Given the description of an element on the screen output the (x, y) to click on. 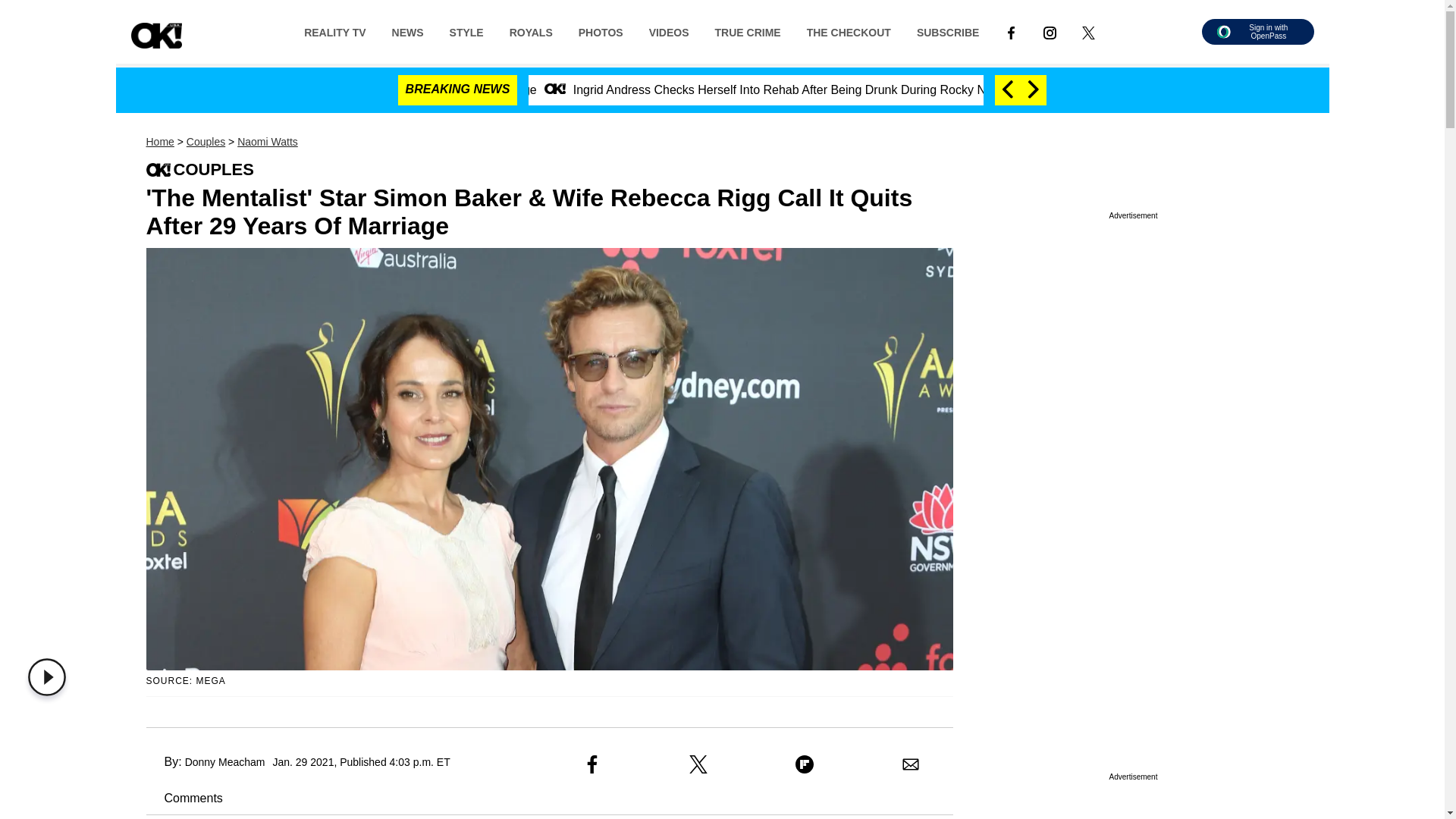
LINK TO X (1088, 31)
Share to X (697, 764)
Trinity Audio Player (50, 677)
Sign in with OpenPass (1257, 31)
LINK TO FACEBOOK (1010, 31)
ROYALS (531, 31)
LINK TO INSTAGRAM (1049, 31)
LINK TO X (1087, 32)
NEWS (407, 31)
PHOTOS (601, 31)
LINK TO FACEBOOK (1010, 32)
Home (159, 141)
REALITY TV (334, 31)
